Given the description of an element on the screen output the (x, y) to click on. 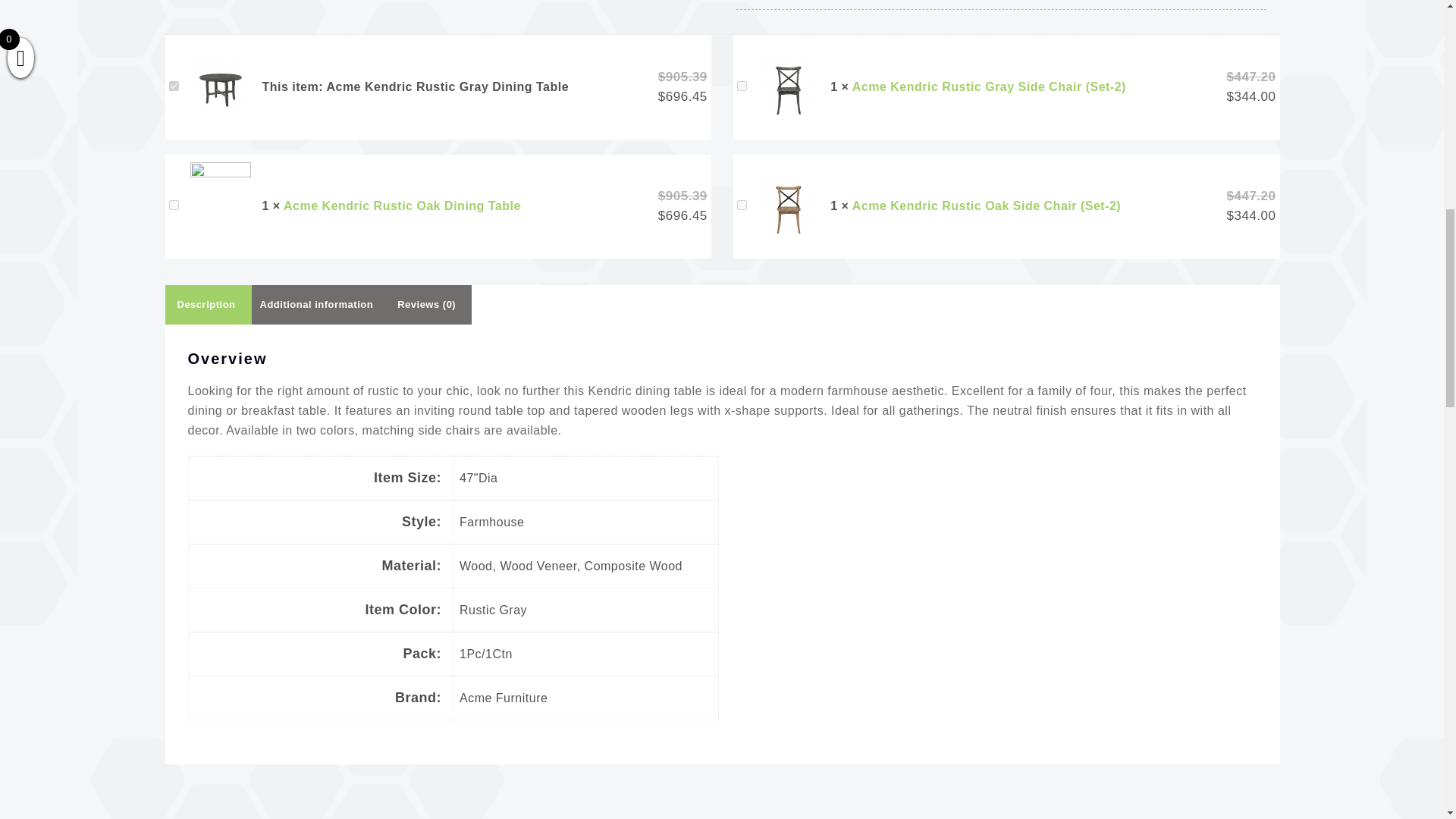
11978 (741, 85)
on (172, 85)
11965 (172, 204)
11966 (741, 204)
